Given the description of an element on the screen output the (x, y) to click on. 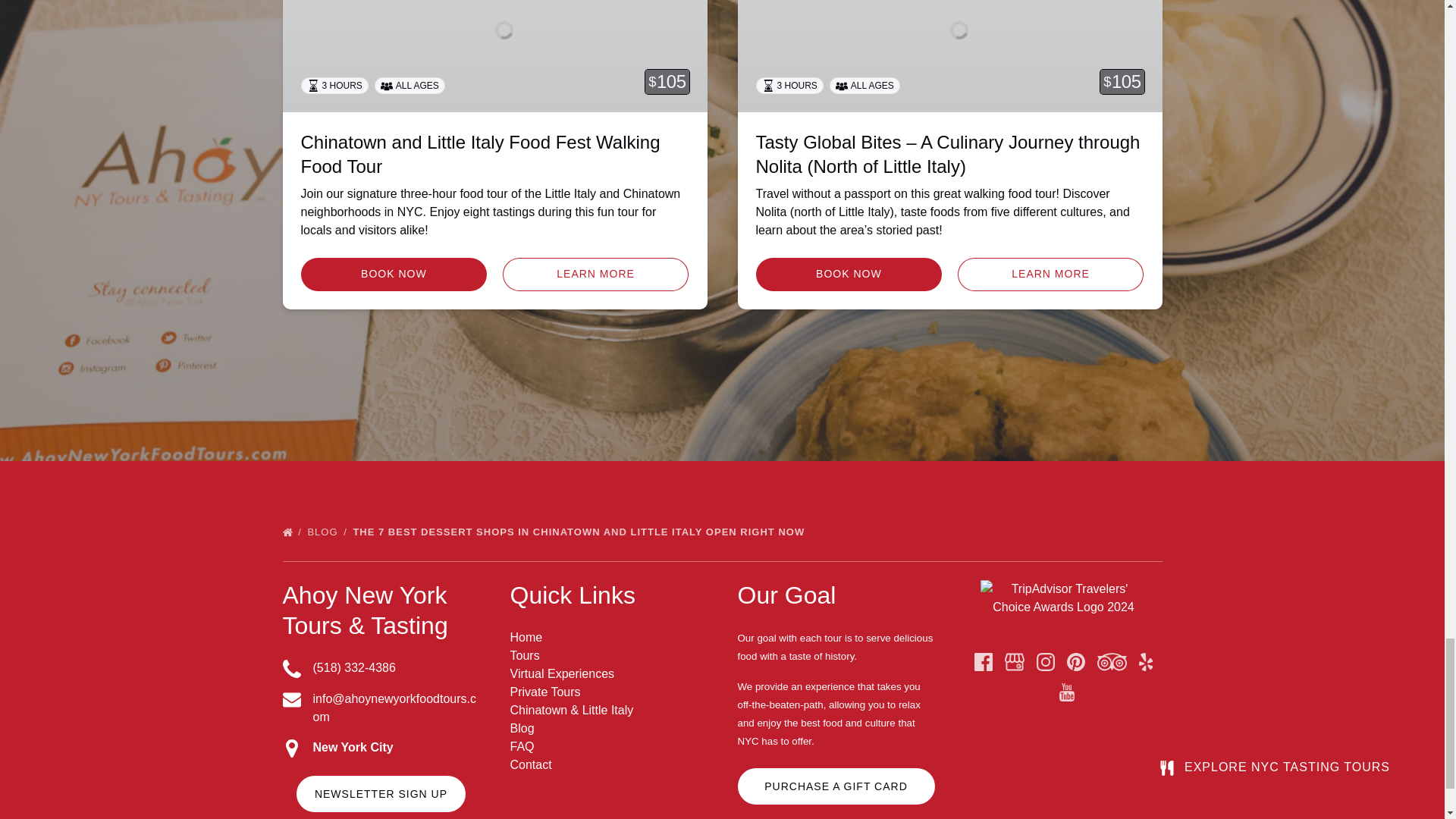
Phone (290, 669)
Map Marker (290, 748)
Envelope (290, 700)
